Given the description of an element on the screen output the (x, y) to click on. 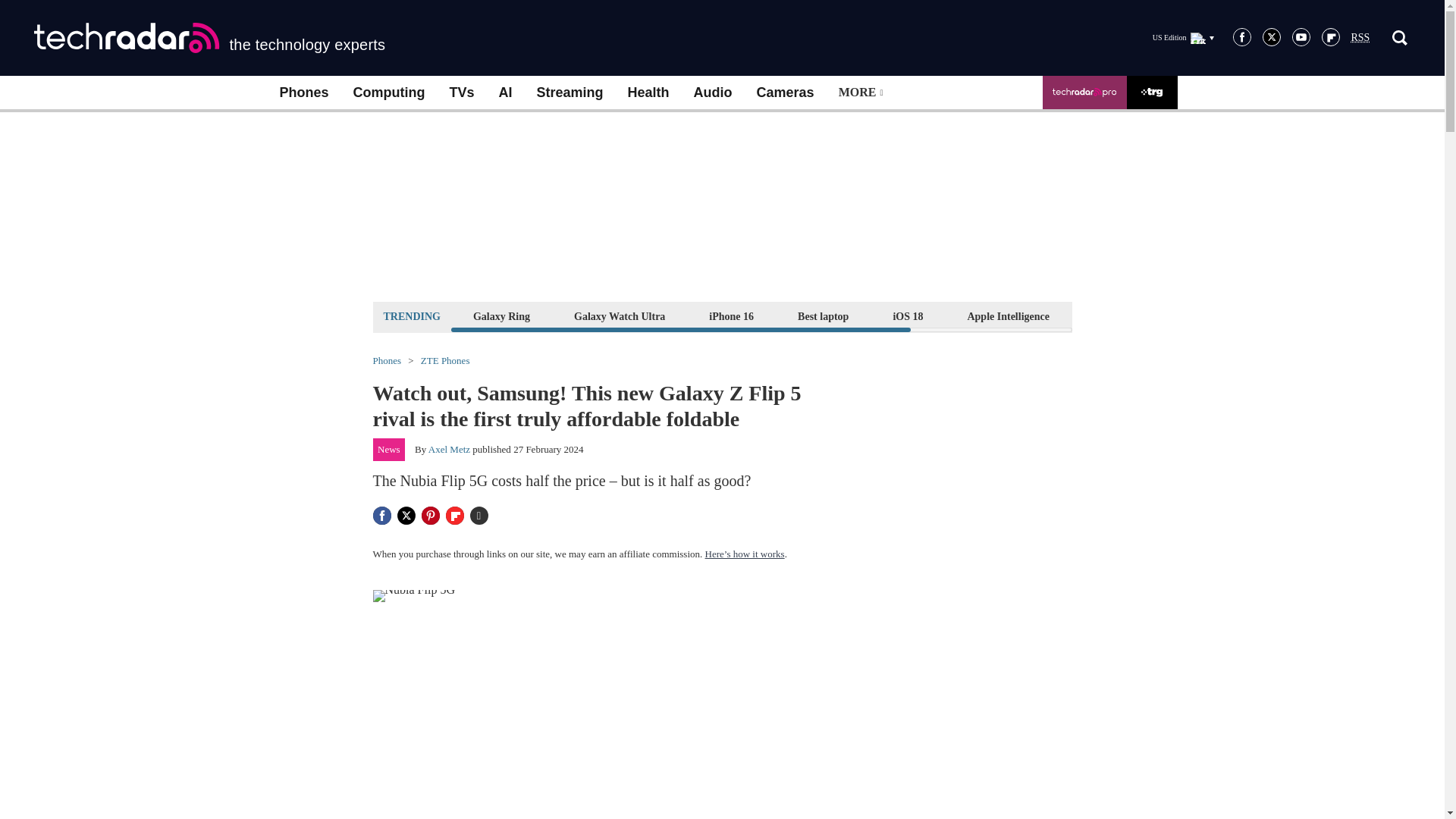
AI (505, 92)
US Edition (1182, 37)
the technology experts (209, 38)
Health (648, 92)
Streaming (569, 92)
Really Simple Syndication (1360, 37)
TVs (461, 92)
Phones (303, 92)
Cameras (785, 92)
Computing (389, 92)
